Given the description of an element on the screen output the (x, y) to click on. 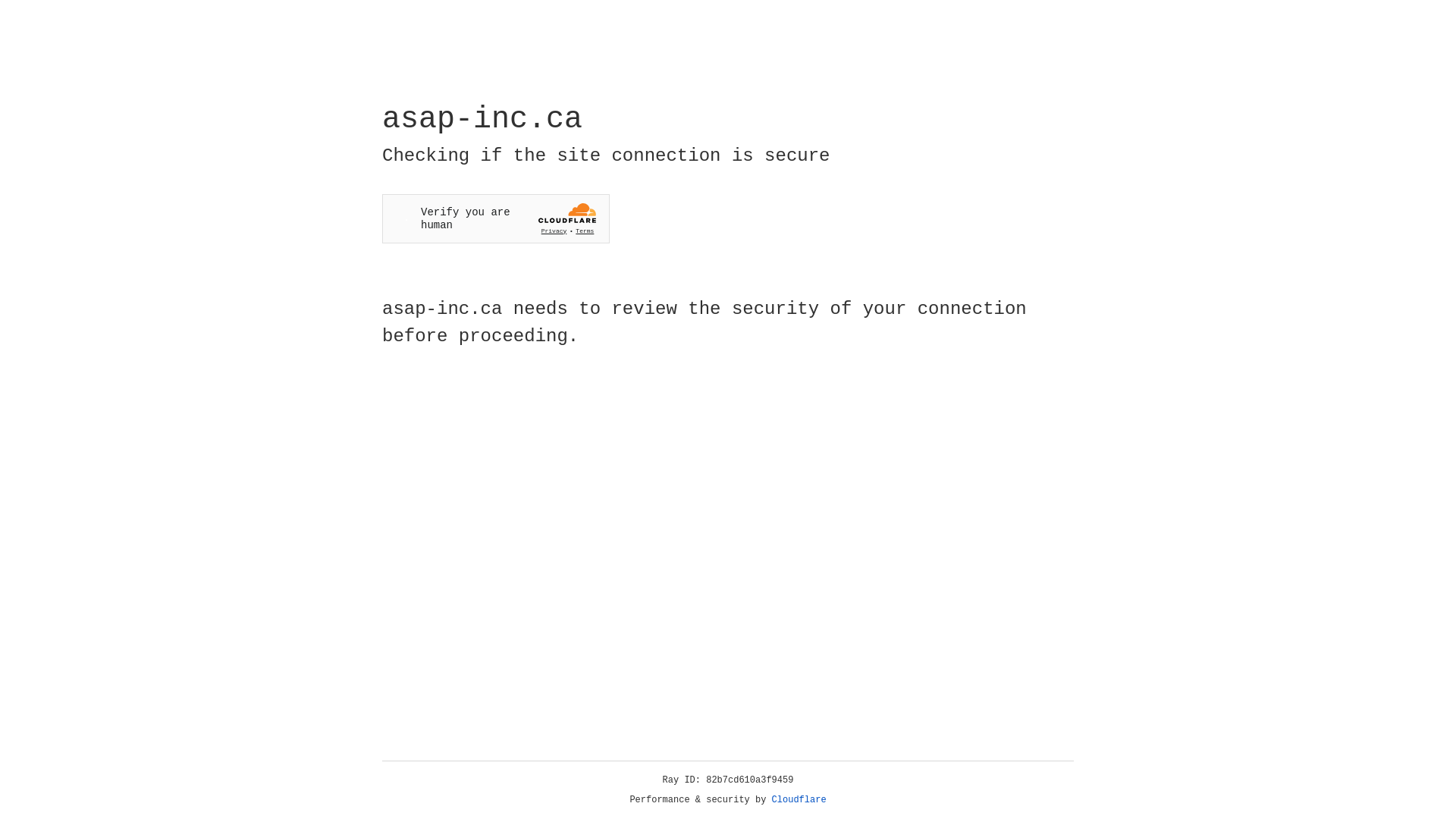
Widget containing a Cloudflare security challenge Element type: hover (495, 218)
Cloudflare Element type: text (798, 799)
